Given the description of an element on the screen output the (x, y) to click on. 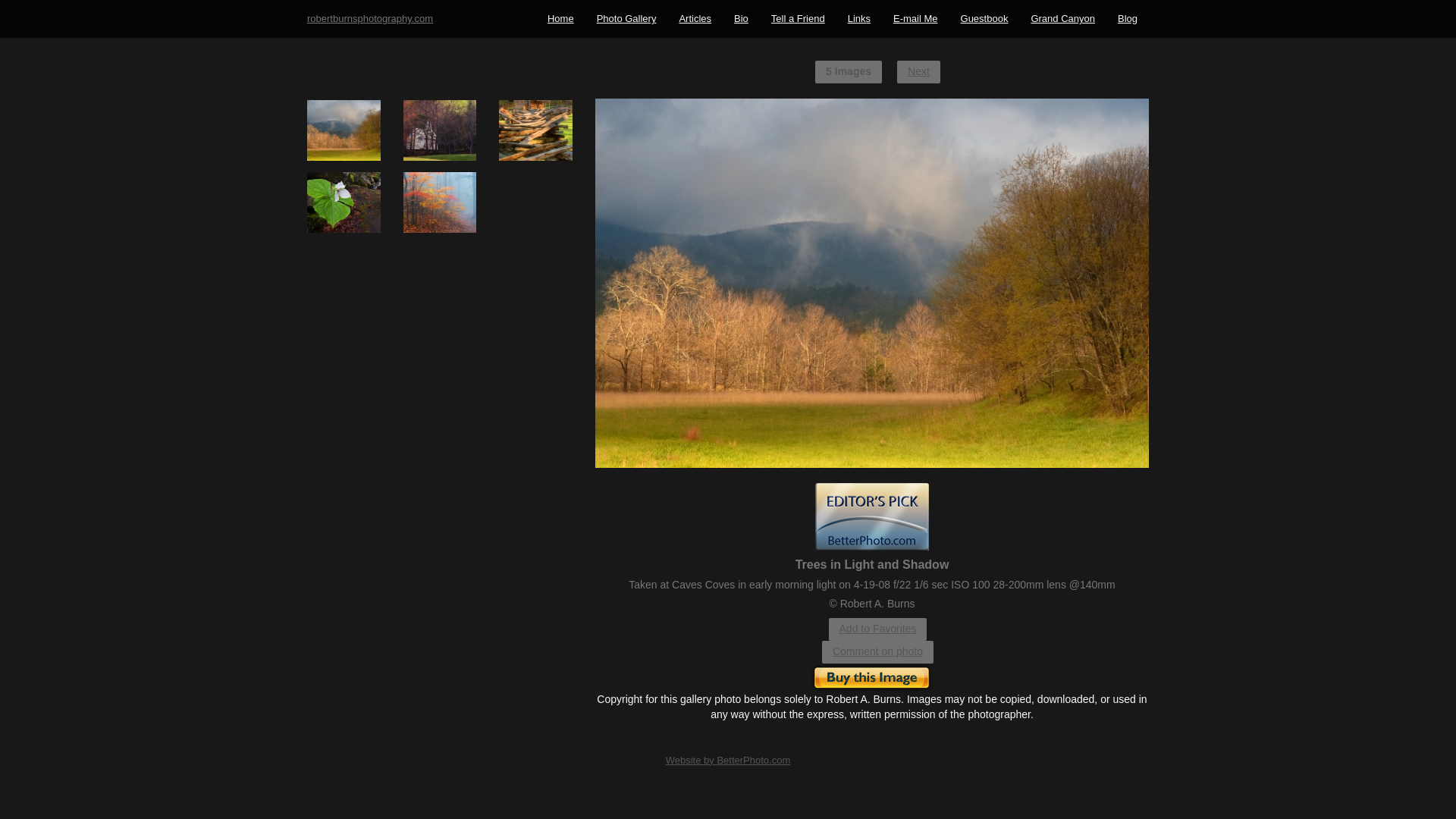
Bio (741, 18)
Next (918, 71)
Guestbook (984, 18)
Add To Favorites (877, 629)
Website by BetterPhoto.com (727, 759)
Blog (1127, 18)
E-mail Me (915, 18)
Comment on photo (877, 651)
Photography Websites by BetterPhoto.com (727, 759)
Articles (694, 18)
Photo Gallery (626, 18)
robertburnsphotography.com (369, 18)
Add to Favorites (877, 629)
Grand Canyon (1062, 18)
